Given the description of an element on the screen output the (x, y) to click on. 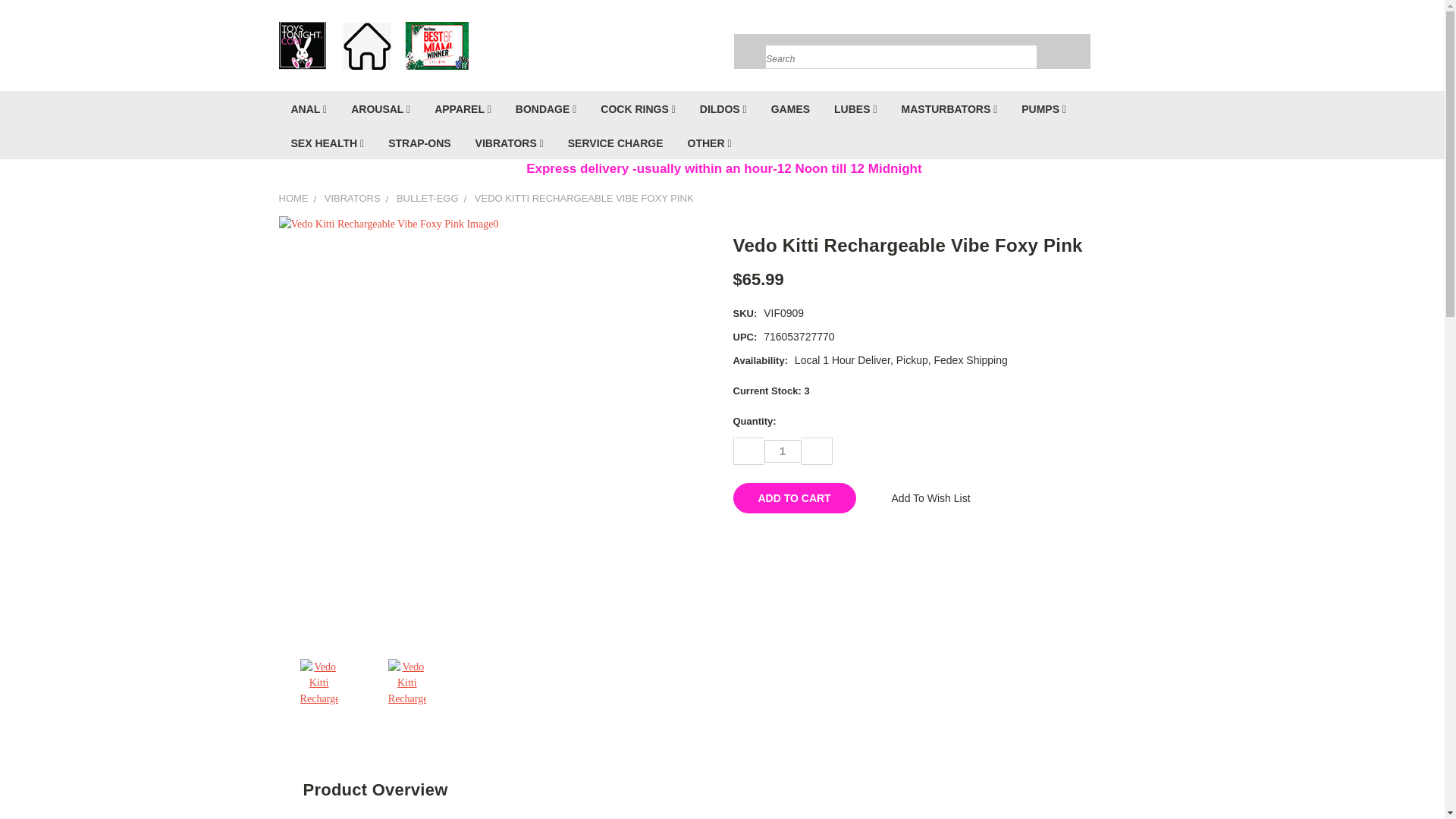
Cart (1161, 48)
Add to Cart (794, 498)
Submit Search (1024, 38)
Toys Tonight (373, 44)
User Toolbox (1105, 48)
Gift Certificates (1135, 48)
1 (783, 450)
